Given the description of an element on the screen output the (x, y) to click on. 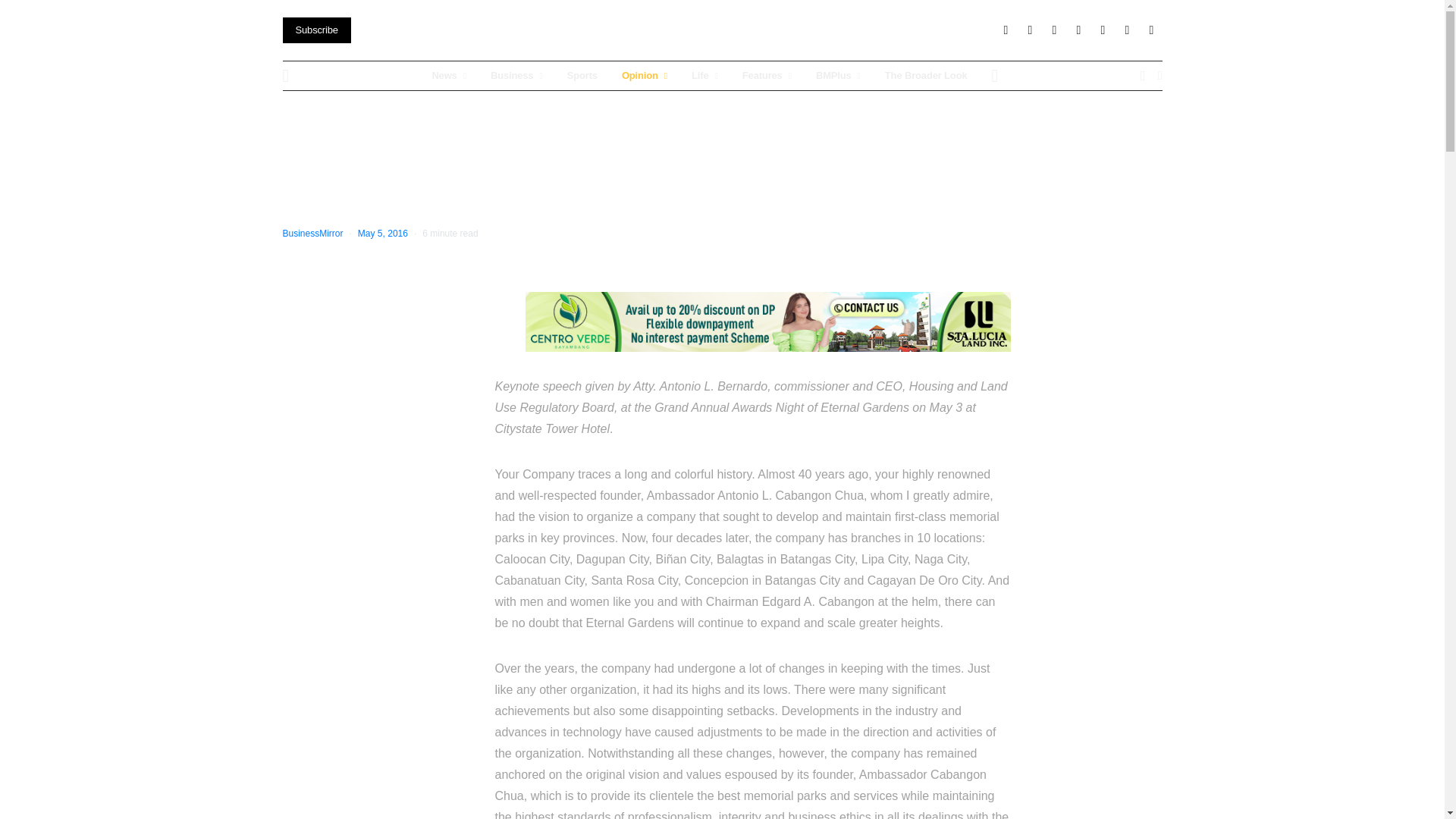
View all posts by BusinessMirror (312, 233)
